Given the description of an element on the screen output the (x, y) to click on. 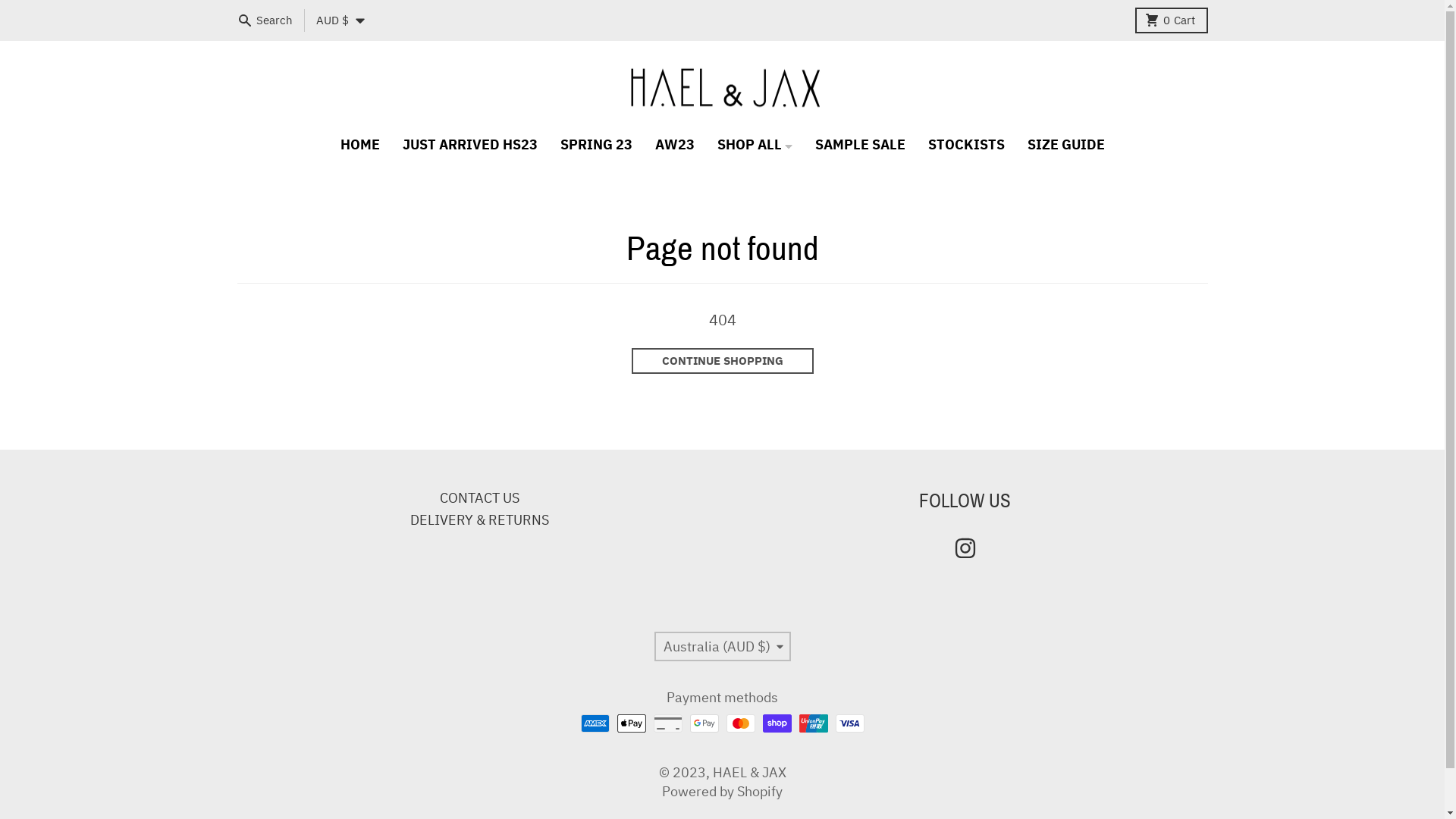
SAMPLE SALE Element type: text (859, 144)
Australia (AUD $) Element type: text (721, 646)
SPRING 23 Element type: text (596, 144)
SIZE GUIDE Element type: text (1066, 144)
Powered by Shopify Element type: text (722, 791)
HAEL & JAX Element type: text (749, 772)
DELIVERY & RETURNS Element type: text (479, 519)
0
Cart Element type: text (1170, 20)
CONTINUE SHOPPING Element type: text (721, 360)
CONTACT US Element type: text (479, 497)
AW23 Element type: text (674, 144)
HOME Element type: text (360, 144)
STOCKISTS Element type: text (965, 144)
Instagram - HAEL & JAX Element type: hover (964, 547)
Search Element type: text (266, 20)
AUD $ Element type: text (338, 20)
JUST ARRIVED HS23 Element type: text (470, 144)
